Given the description of an element on the screen output the (x, y) to click on. 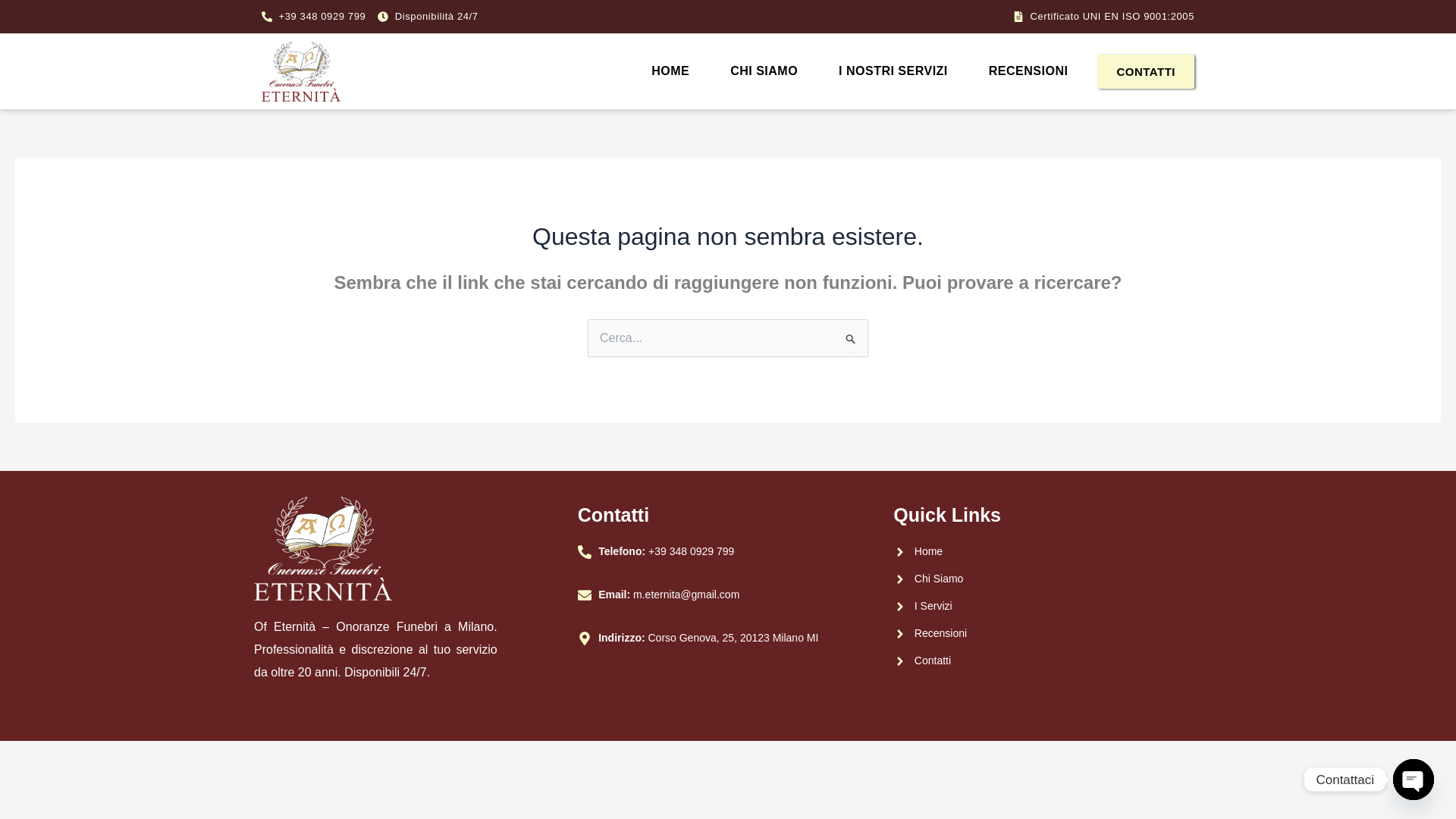
HOME (670, 71)
CHI SIAMO (764, 71)
Home (1043, 551)
RECENSIONI (1028, 71)
I NOSTRI SERVIZI (893, 71)
I Servizi (1043, 606)
Recensioni (1043, 633)
CONTATTI (1145, 71)
Chi Siamo (1043, 578)
Contatti (1043, 660)
